Given the description of an element on the screen output the (x, y) to click on. 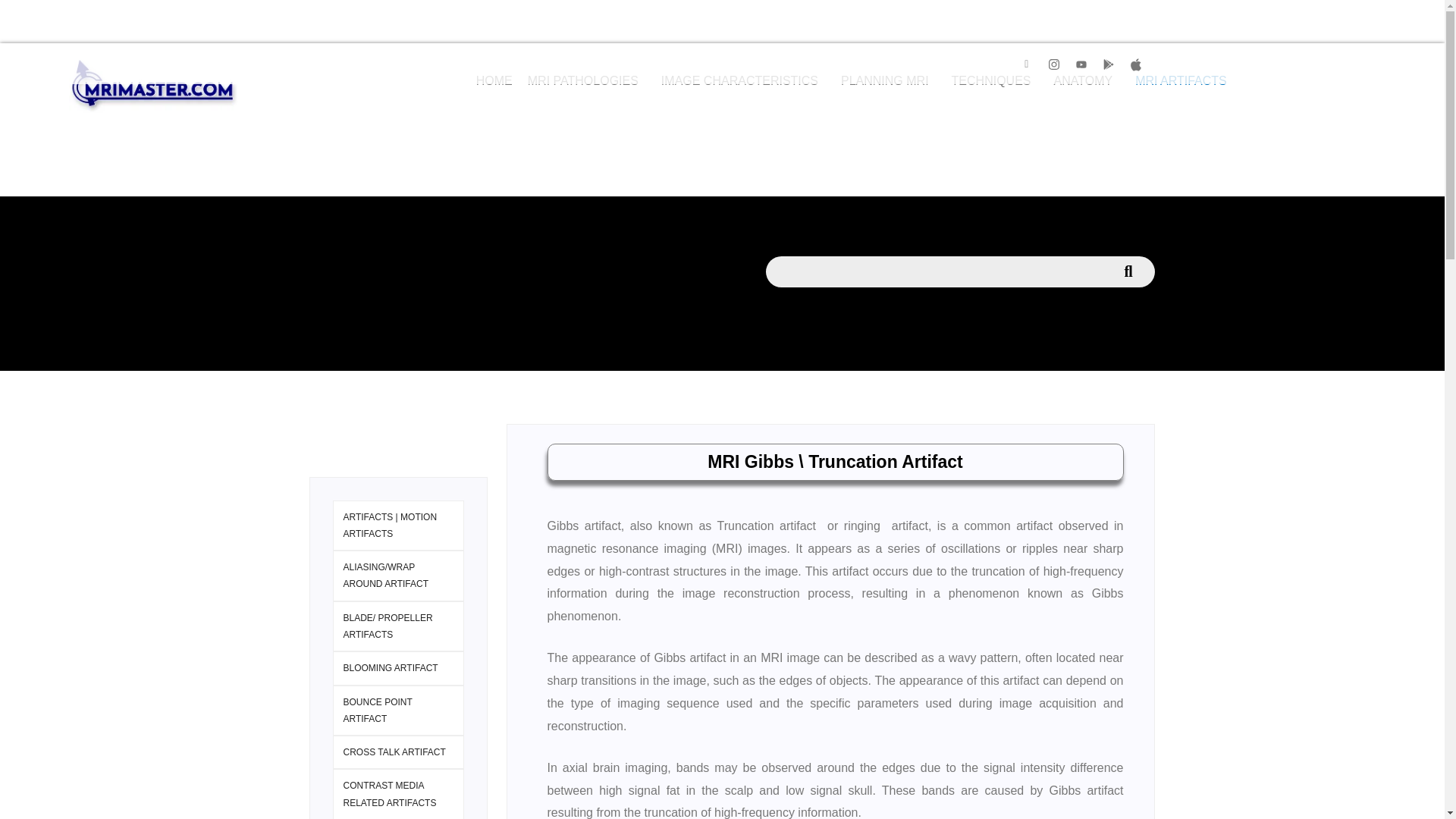
HOME (493, 80)
Search (933, 271)
IMAGE CHARACTERISTICS (742, 80)
MRI PATHOLOGIES (586, 80)
